Given the description of an element on the screen output the (x, y) to click on. 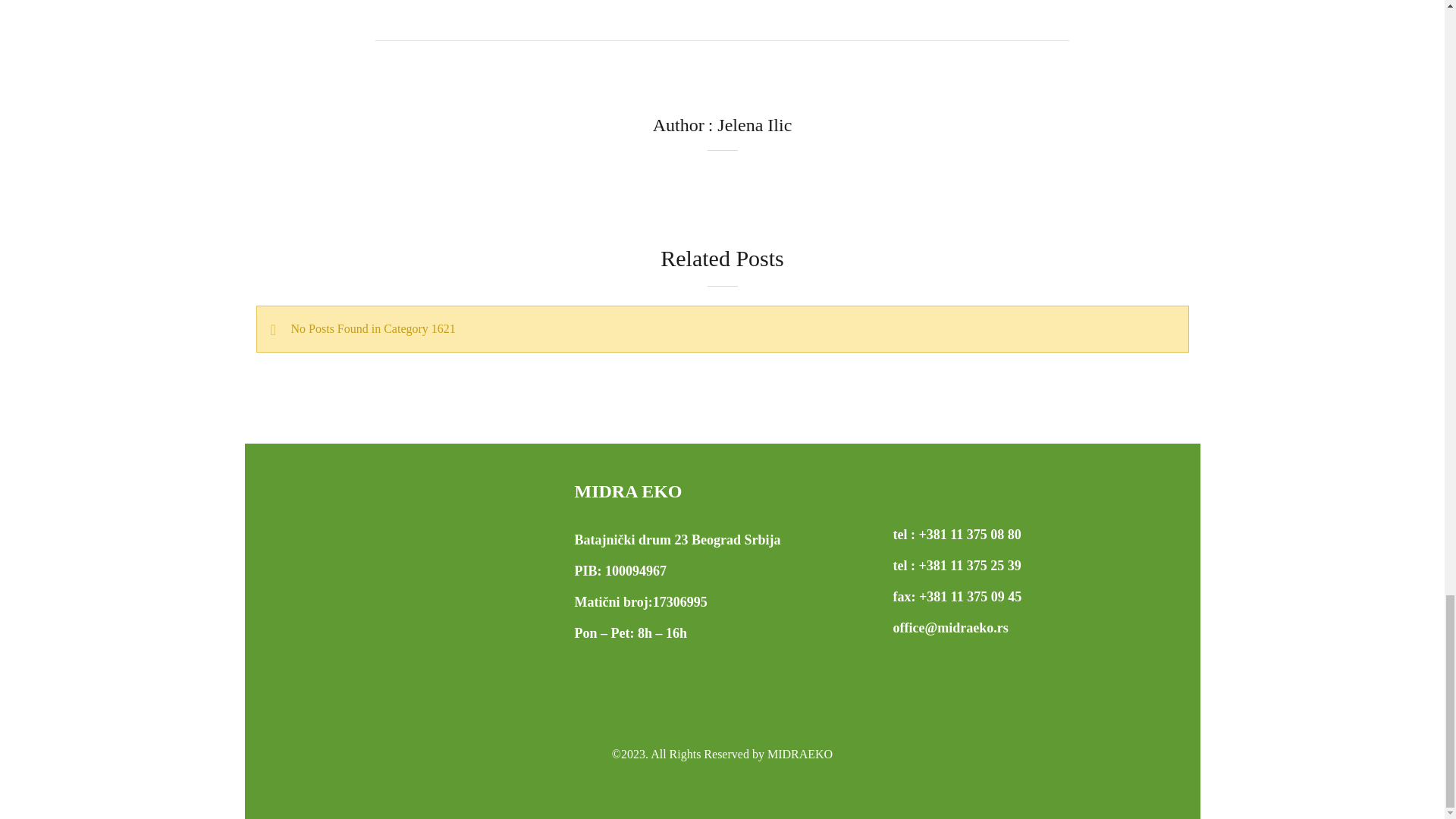
Jelena Ilic (754, 125)
MIDRAEKO (799, 753)
Izrada sajta (721, 784)
Webdizajn Izrada sajta (721, 784)
